Given the description of an element on the screen output the (x, y) to click on. 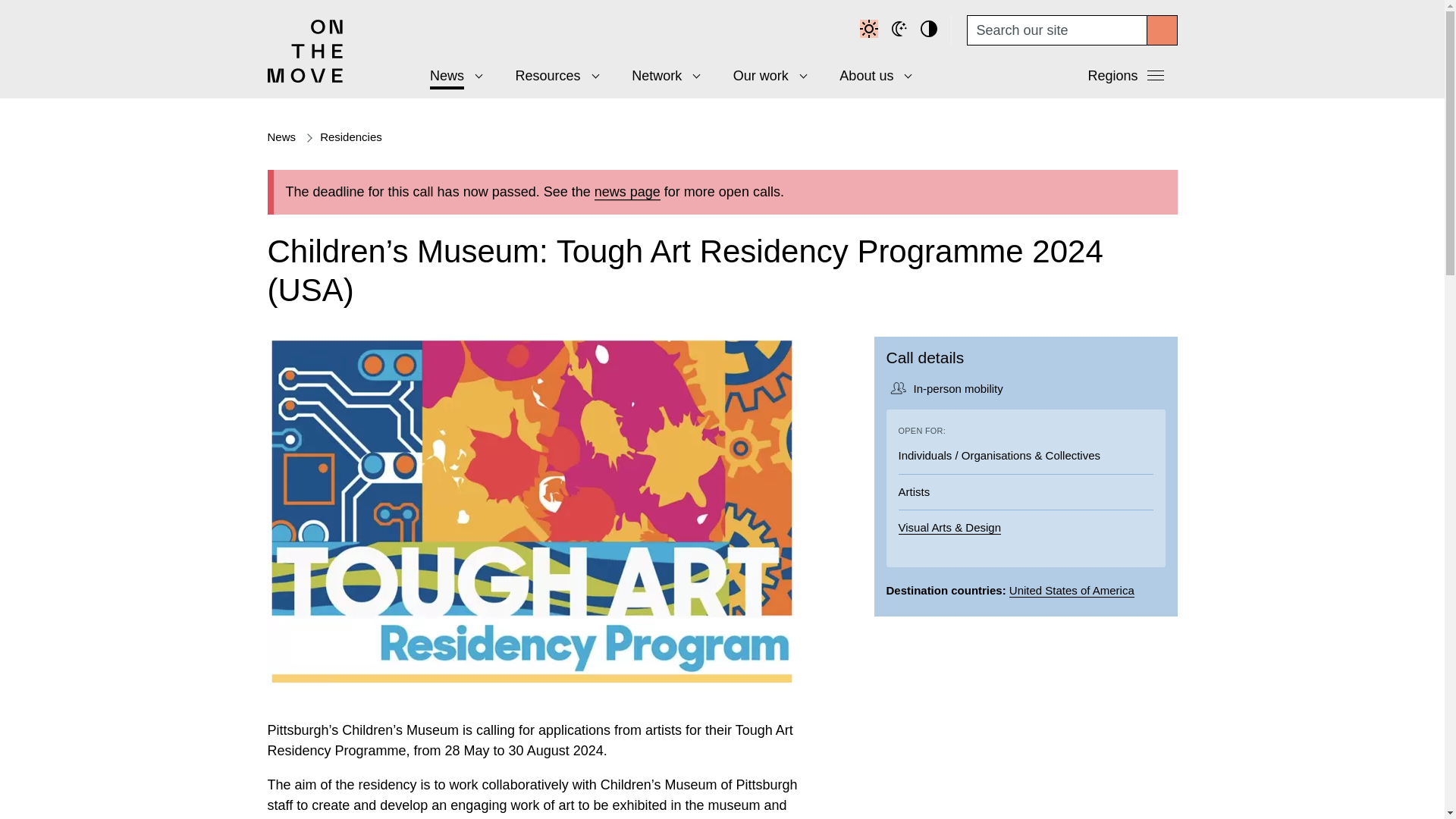
Regions (1126, 78)
body-high-contrast (930, 30)
Resources (551, 75)
News (451, 75)
Our work (765, 75)
Network (661, 75)
About us (870, 75)
body-dark (900, 30)
body-default (871, 30)
Search (1161, 30)
Search (1161, 30)
